Given the description of an element on the screen output the (x, y) to click on. 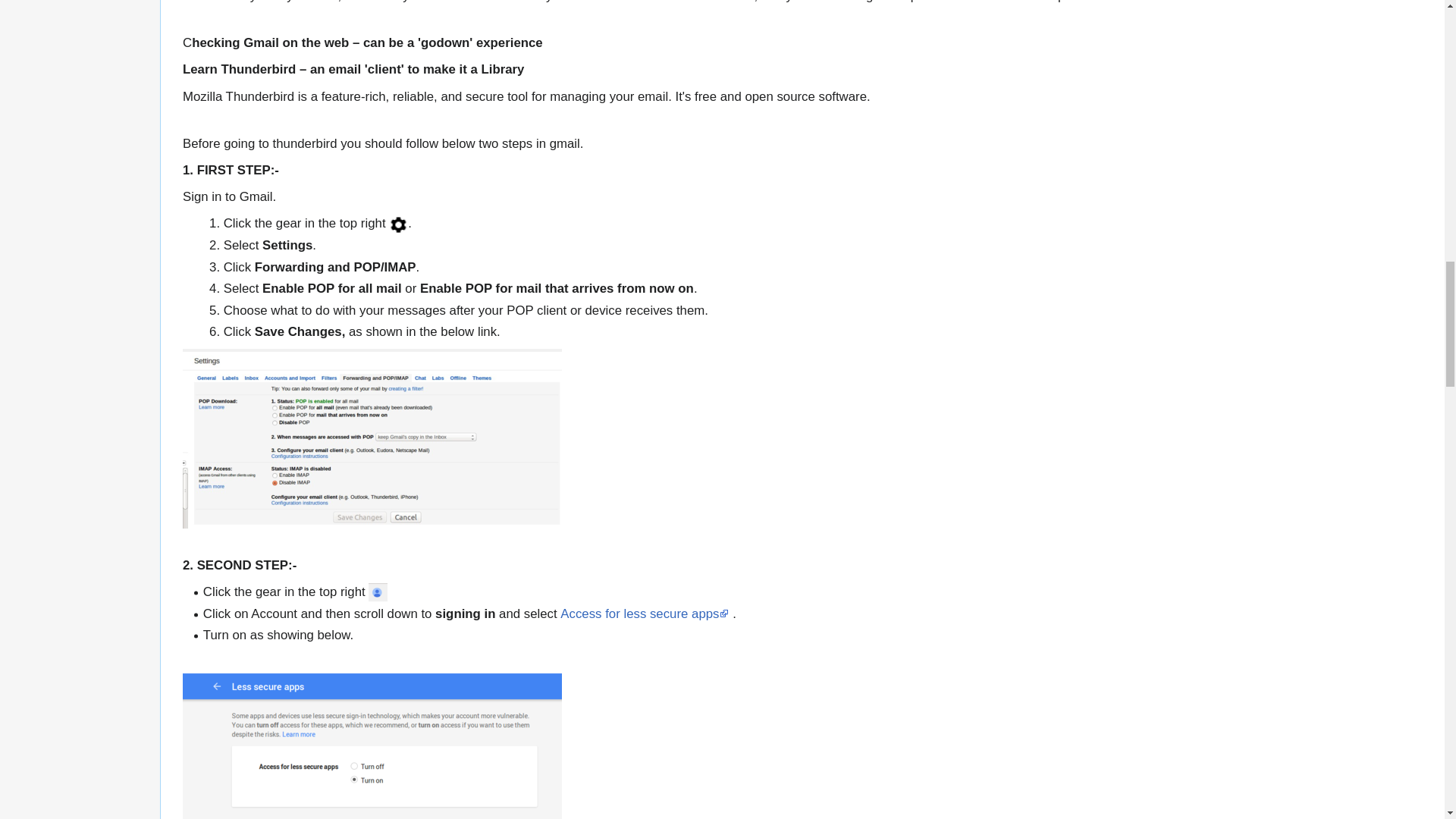
Access for less secure apps (644, 613)
